Given the description of an element on the screen output the (x, y) to click on. 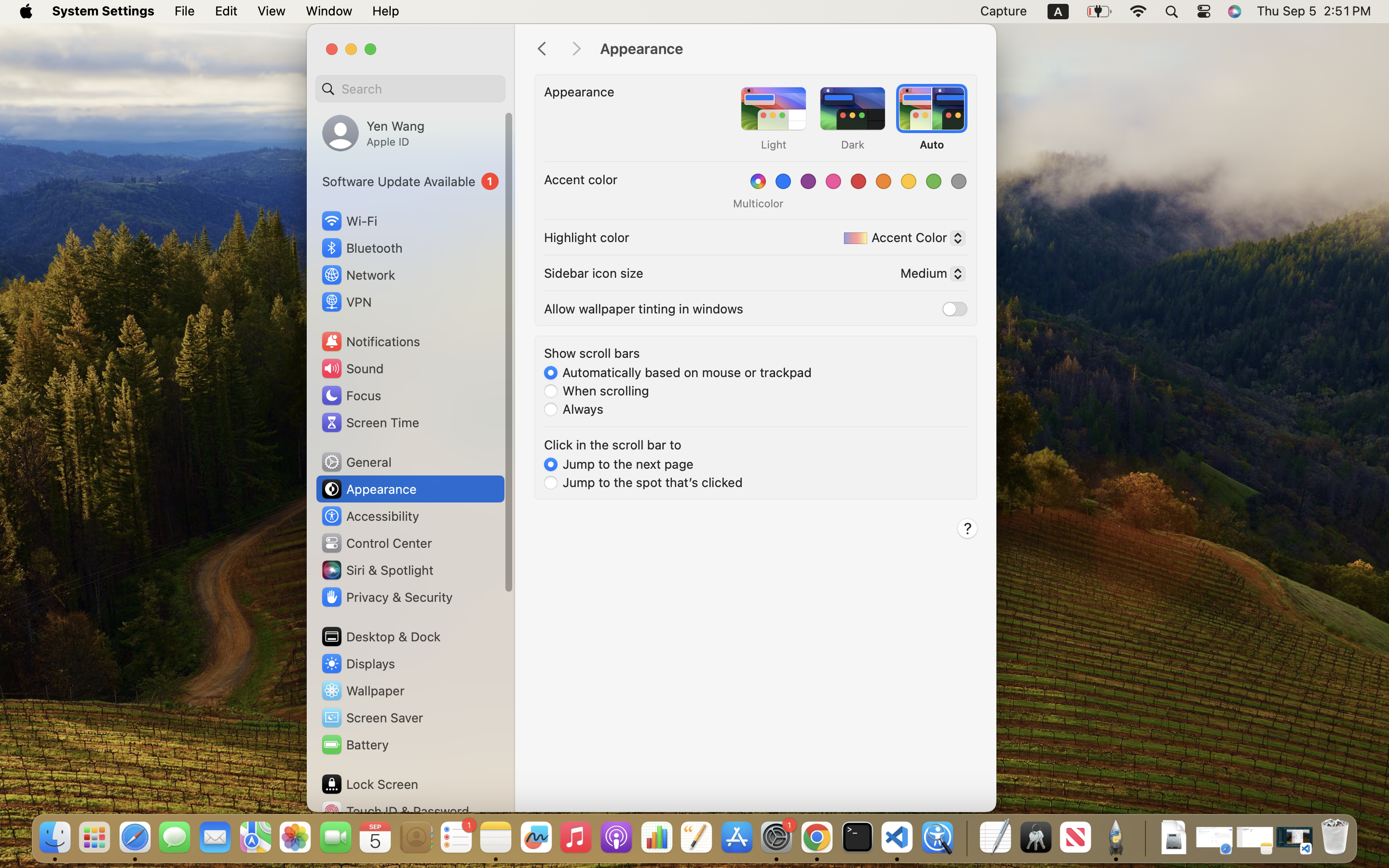
Medium Element type: AXPopUpButton (928, 275)
Notifications Element type: AXStaticText (370, 340)
Accent color Element type: AXStaticText (580, 179)
Desktop & Dock Element type: AXStaticText (380, 636)
